Given the description of an element on the screen output the (x, y) to click on. 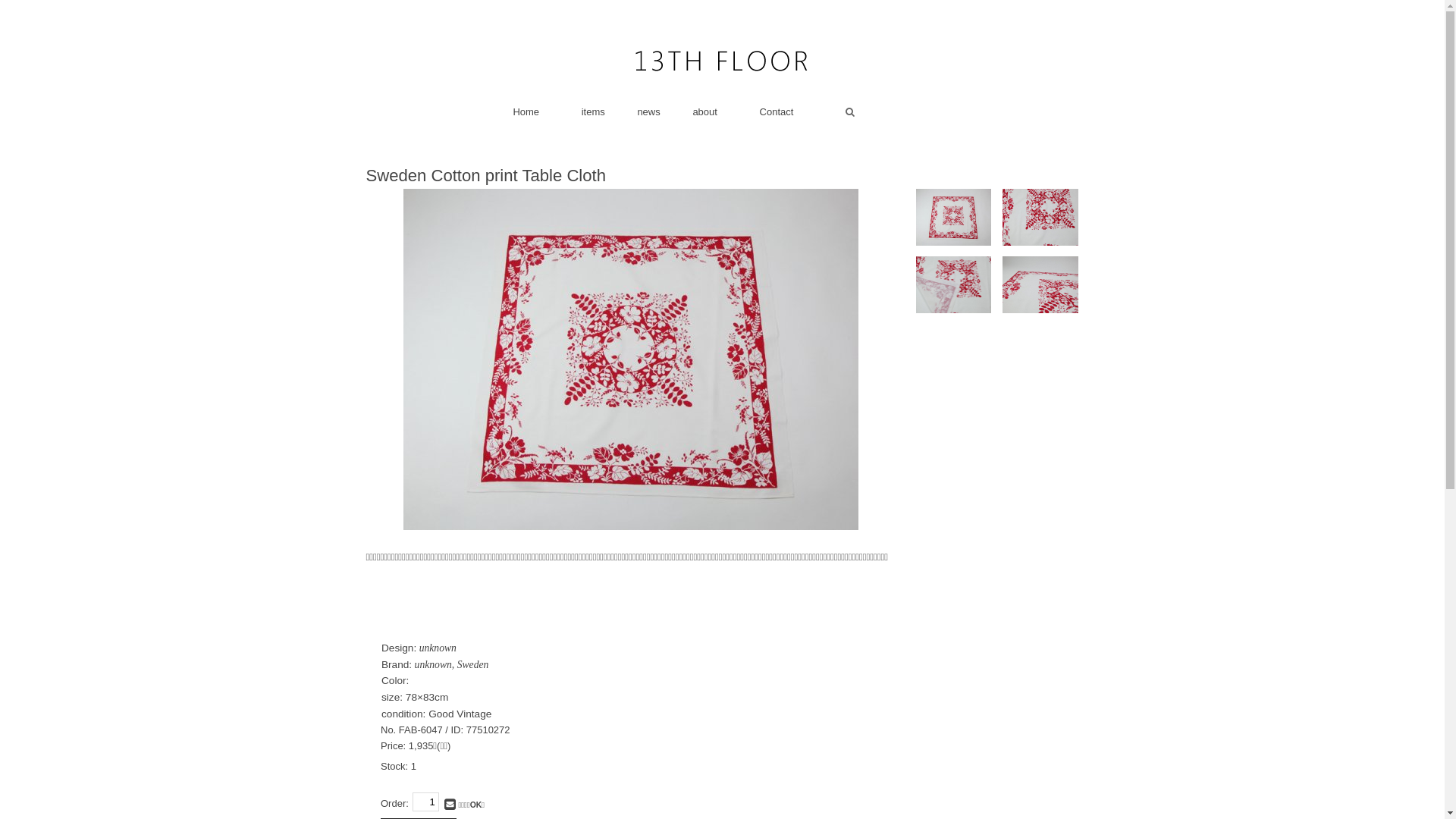
news Element type: text (648, 111)
about Element type: text (704, 111)
Contact Element type: text (776, 111)
items Element type: text (593, 111)
Home Element type: text (525, 111)
